Given the description of an element on the screen output the (x, y) to click on. 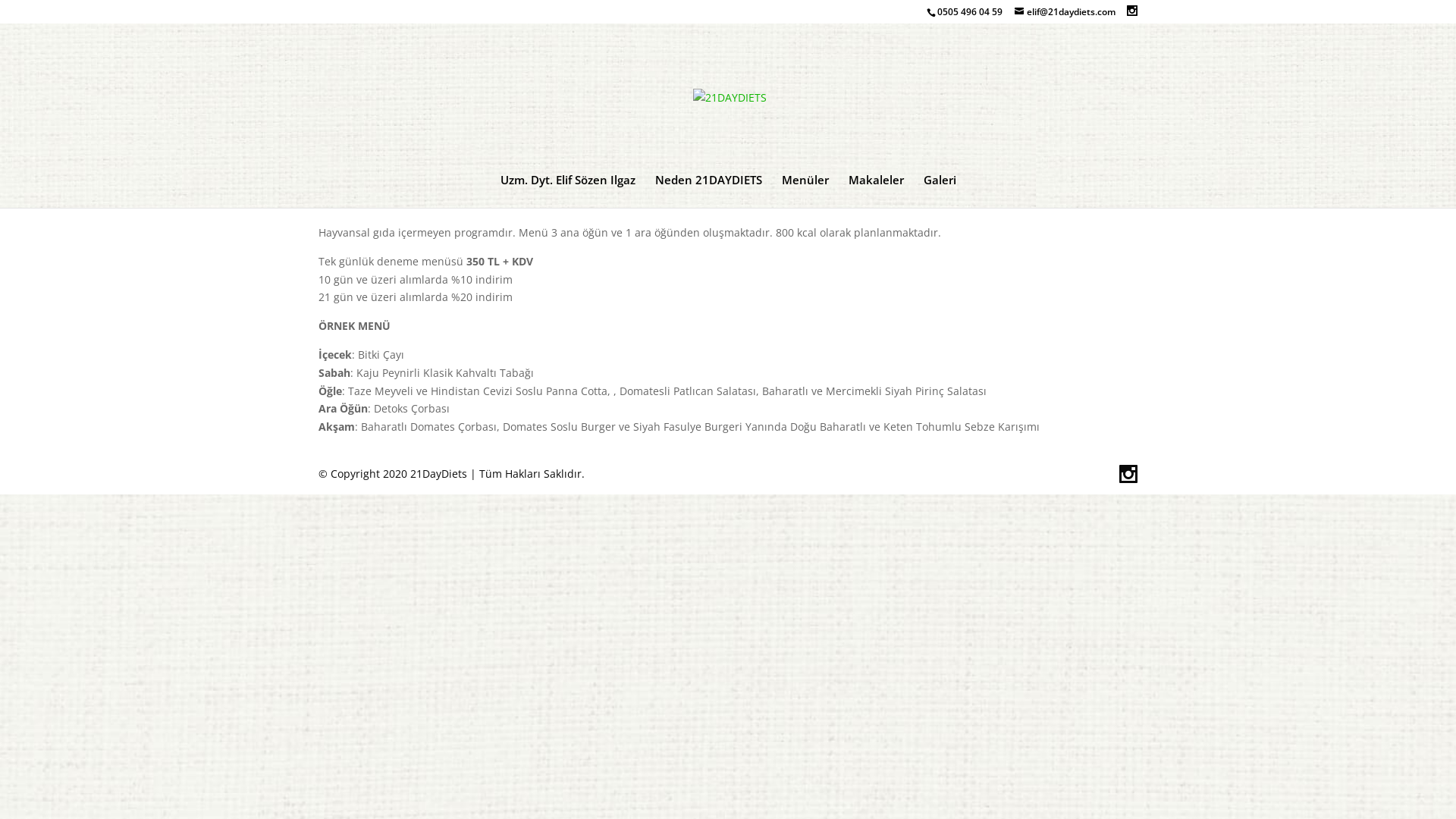
Makaleler Element type: text (875, 190)
elif@21daydiets.com Element type: text (1064, 11)
Galeri Element type: text (939, 190)
Neden 21DAYDIETS Element type: text (708, 190)
